Given the description of an element on the screen output the (x, y) to click on. 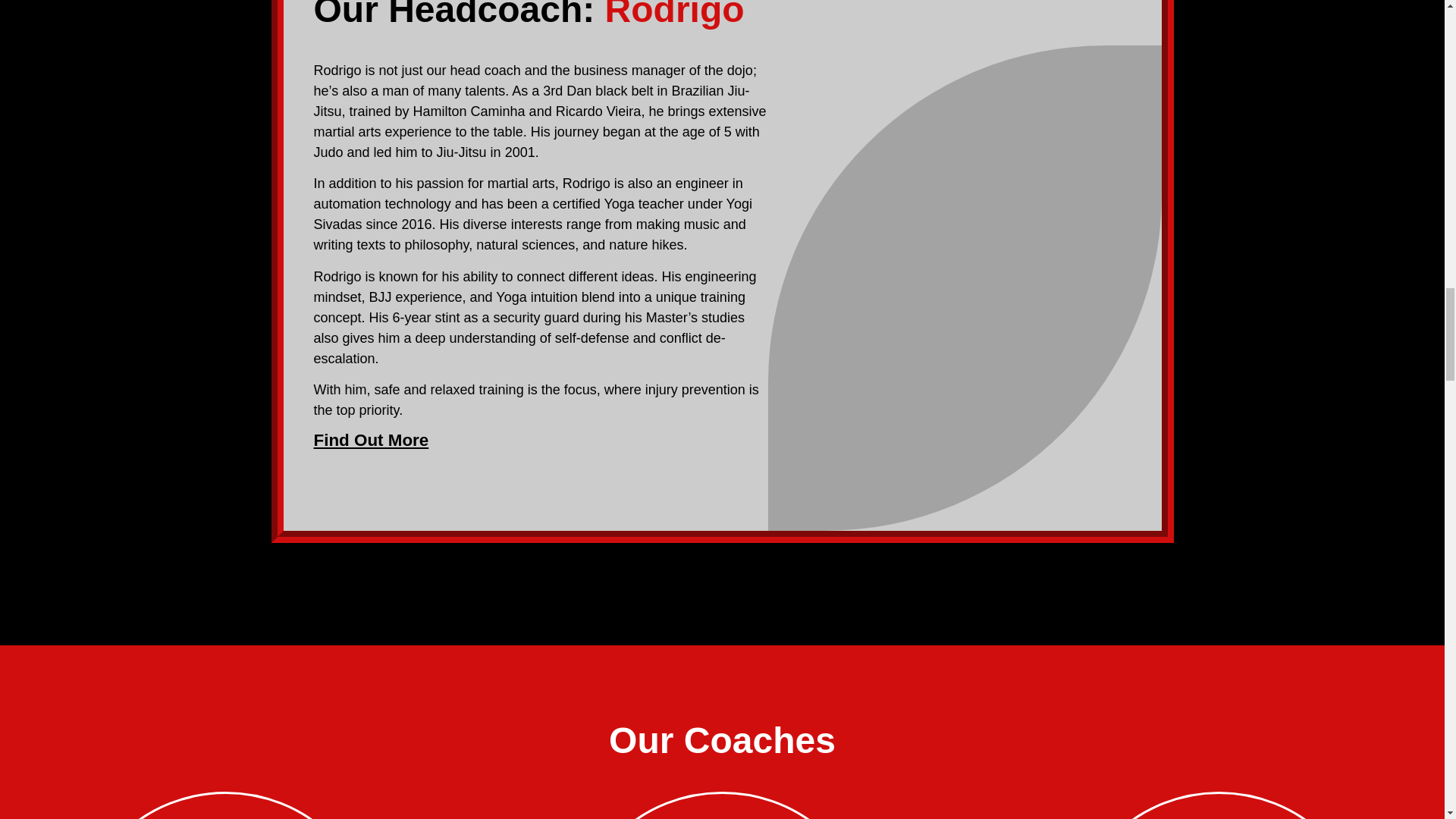
Find Out More (371, 439)
